Given the description of an element on the screen output the (x, y) to click on. 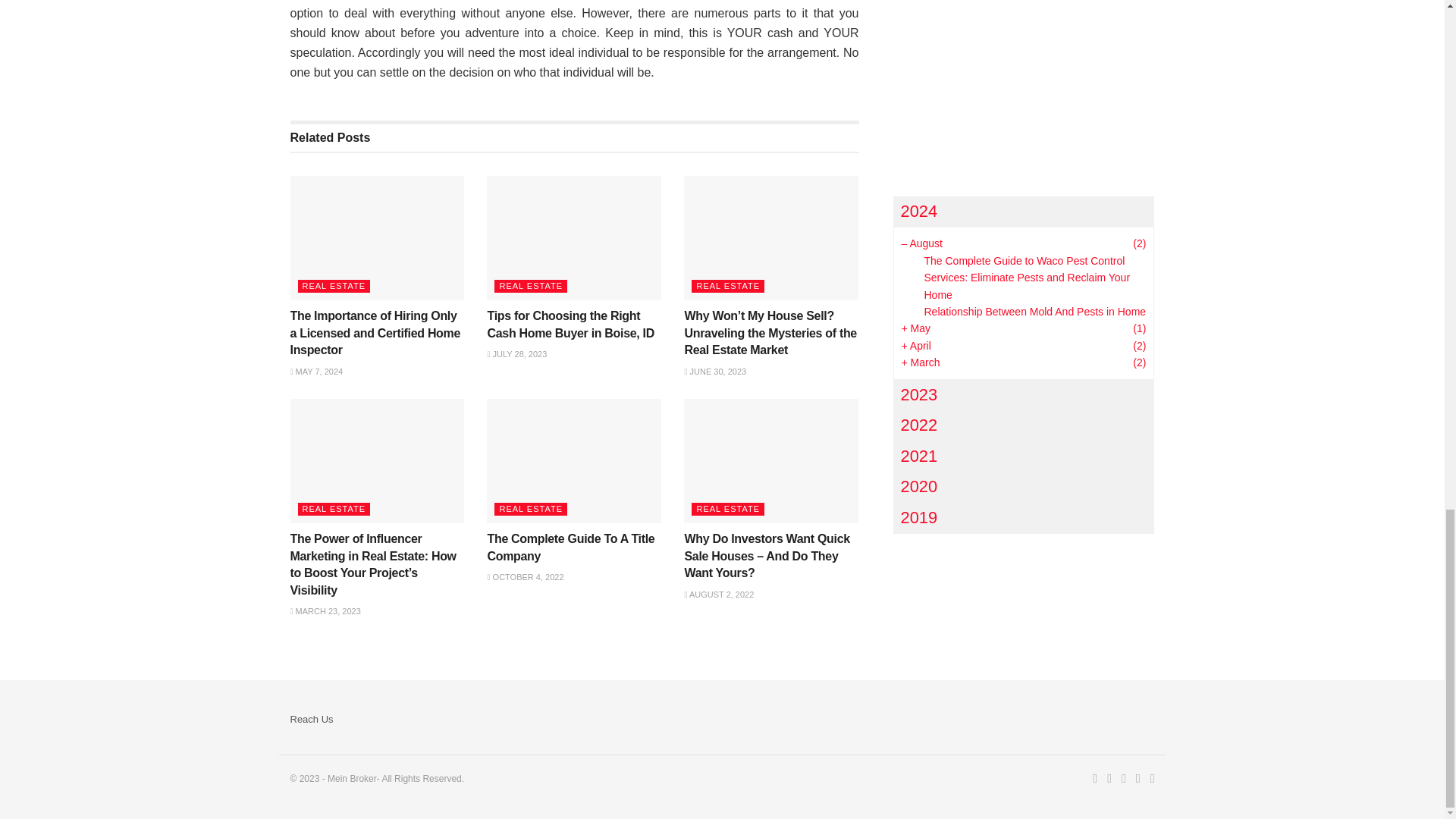
MAY 7, 2024 (315, 370)
REAL ESTATE (333, 286)
